Given the description of an element on the screen output the (x, y) to click on. 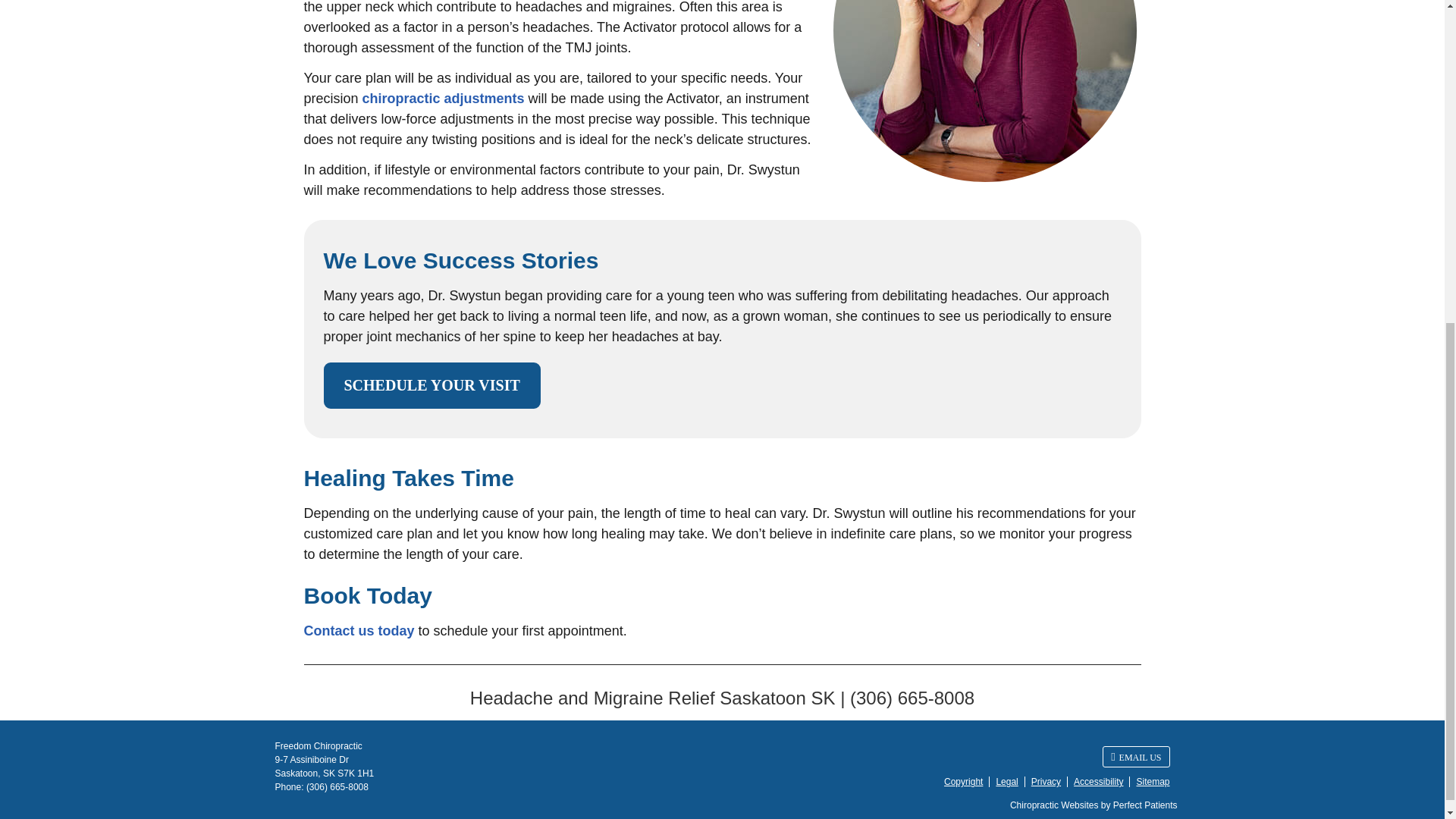
Footer Links (1053, 781)
chiropractic adjustments (443, 98)
Contact us today (357, 630)
Contact (1135, 756)
SCHEDULE YOUR VISIT (431, 385)
